Given the description of an element on the screen output the (x, y) to click on. 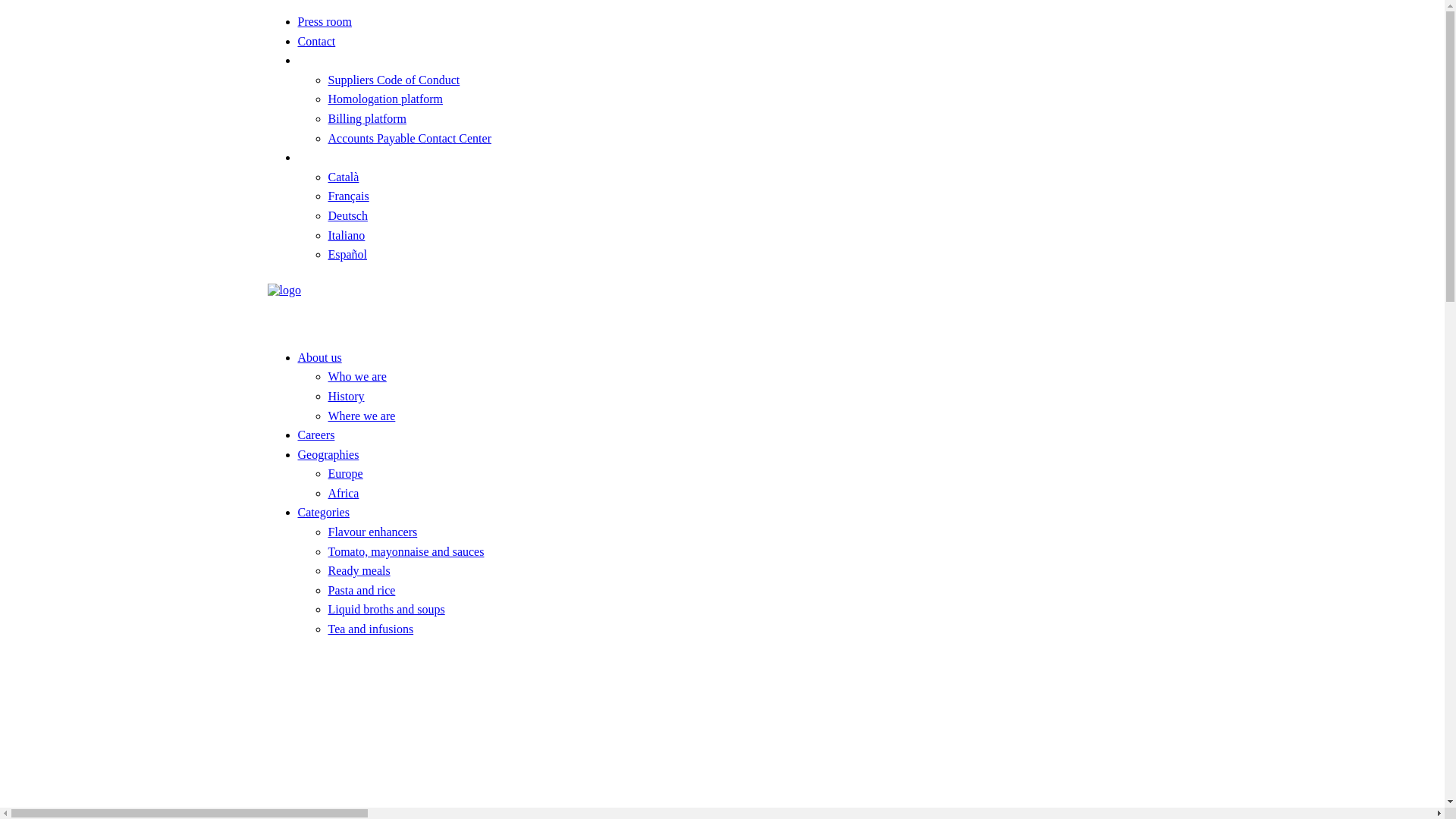
Ready meals Element type: text (358, 570)
Pasta and rice Element type: text (361, 589)
Contact Element type: text (316, 40)
Italiano Element type: text (345, 235)
Where we are Element type: text (361, 415)
Press room Element type: text (324, 21)
Flavour enhancers Element type: text (372, 531)
Who we are Element type: text (356, 376)
Billing platform Element type: text (366, 118)
English Element type: text (315, 156)
Suppliers area Element type: text (331, 59)
Careers Element type: text (315, 434)
Suppliers Code of Conduct Element type: text (393, 79)
Homologation platform Element type: text (384, 98)
Europe Element type: text (344, 473)
History Element type: text (345, 395)
Accounts Payable Contact Center Element type: text (409, 137)
Africa Element type: text (342, 492)
Tomato, mayonnaise and sauces Element type: text (405, 551)
Geographies Element type: text (327, 454)
About us Element type: text (319, 357)
Deutsch Element type: text (347, 215)
Tea and infusions Element type: text (370, 628)
Categories Element type: text (322, 511)
Liquid broths and soups Element type: text (385, 608)
